Given the description of an element on the screen output the (x, y) to click on. 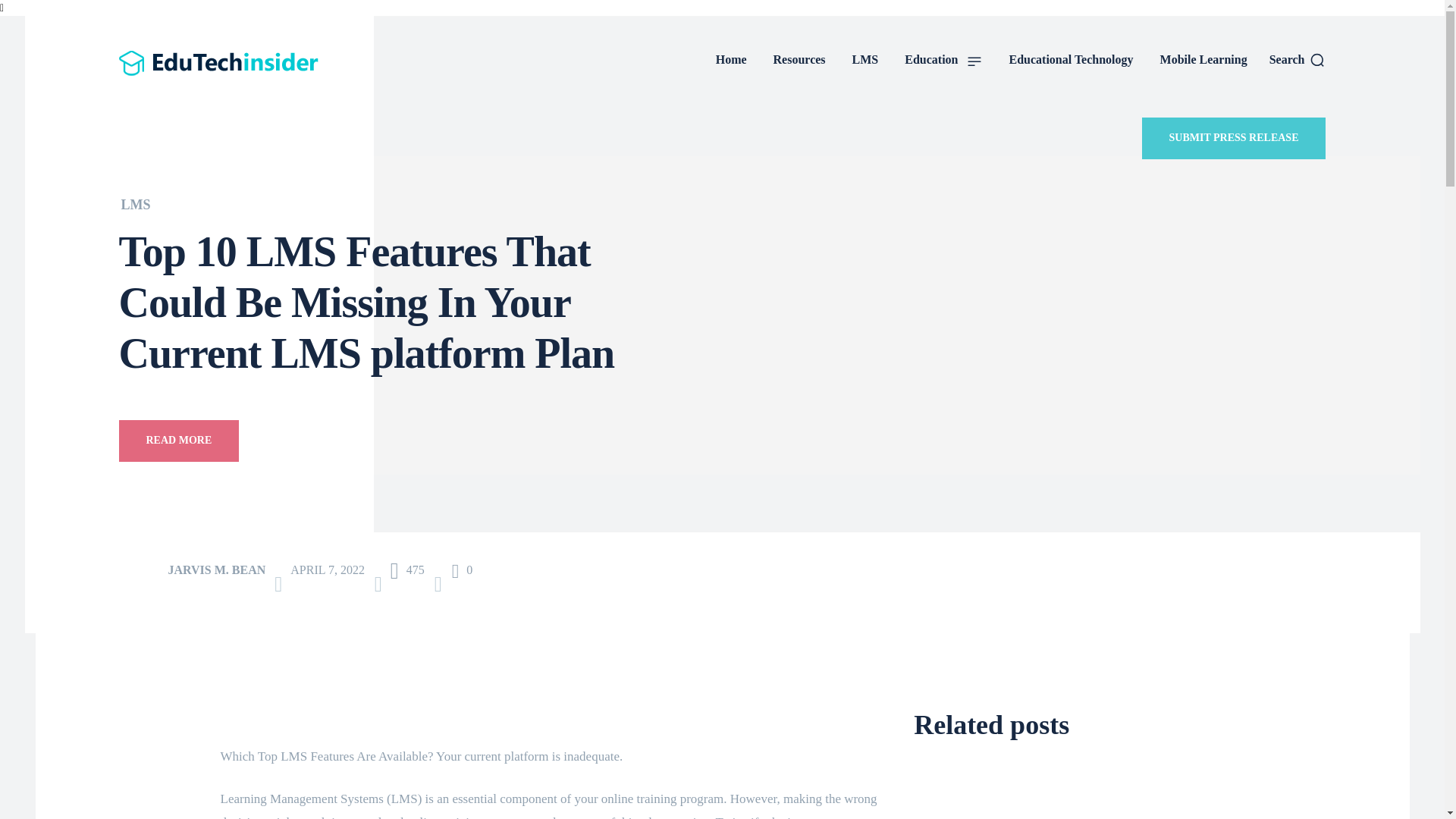
JARVIS M. BEAN (217, 569)
Jarvis M. Bean (141, 569)
Home (731, 59)
Read More (177, 440)
0 (462, 568)
Educational Technology (1071, 59)
Mobile Learning (1203, 59)
SUBMIT PRESS RELEASE (1233, 137)
Resources (799, 59)
Submit press release (1233, 137)
Education (943, 59)
Education (943, 59)
LMS (865, 59)
LMS (135, 204)
Search (1297, 59)
